Given the description of an element on the screen output the (x, y) to click on. 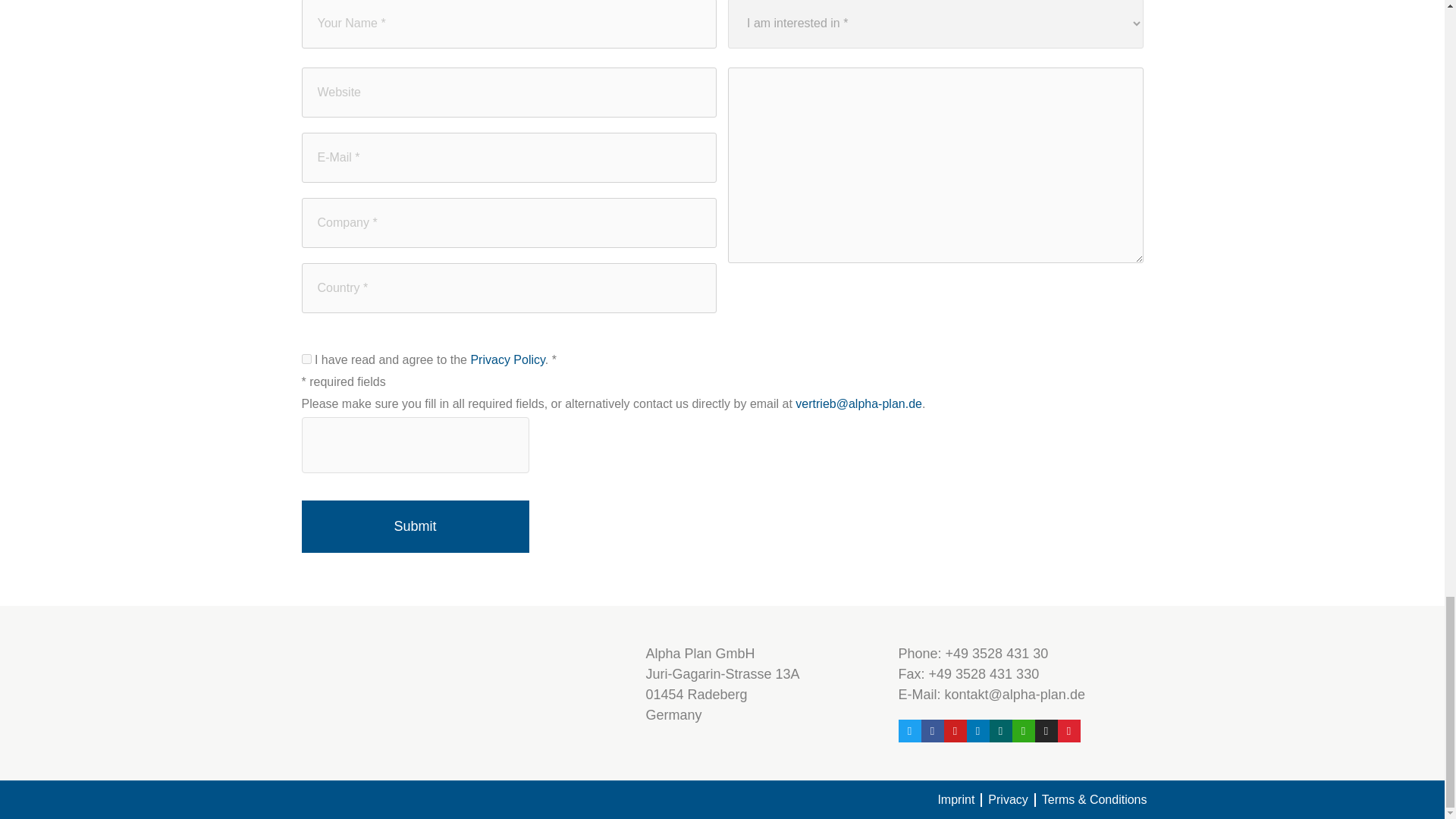
Submit (415, 526)
1 (306, 358)
